Given the description of an element on the screen output the (x, y) to click on. 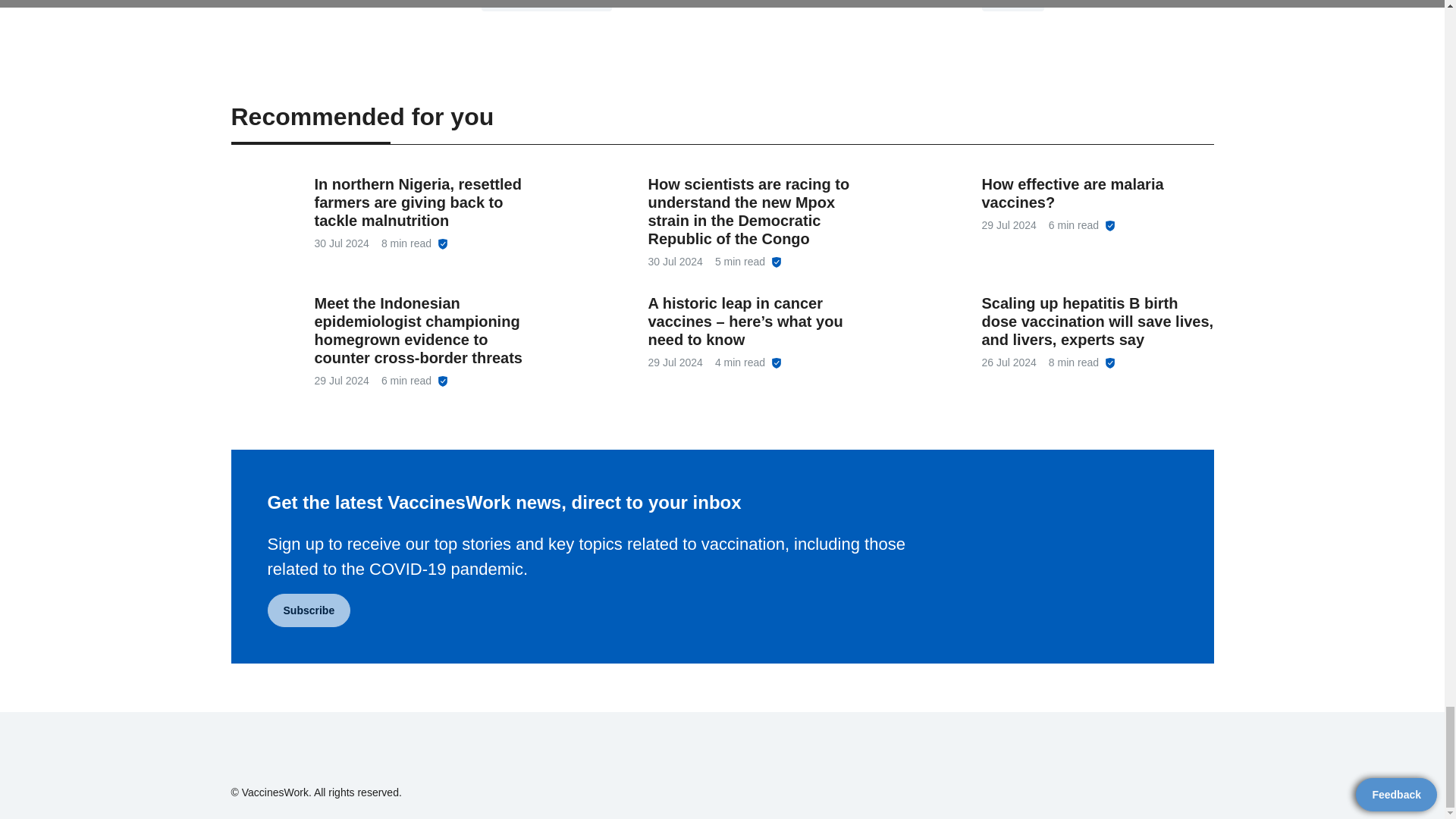
verified (443, 380)
verified (776, 262)
verified (776, 362)
verified (443, 244)
verified (1110, 225)
verified (1110, 362)
